Given the description of an element on the screen output the (x, y) to click on. 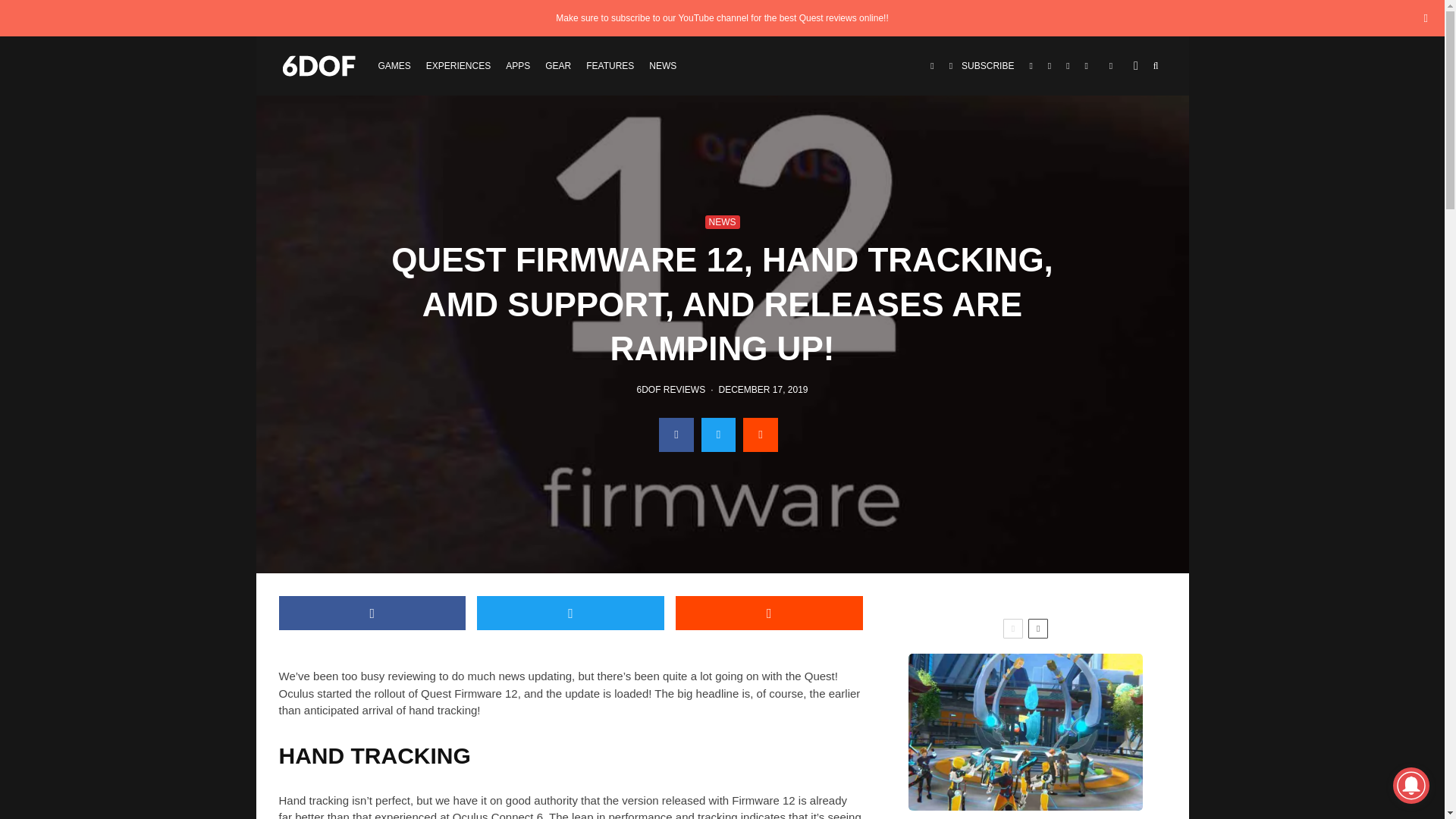
EXPERIENCES (458, 65)
